Given the description of an element on the screen output the (x, y) to click on. 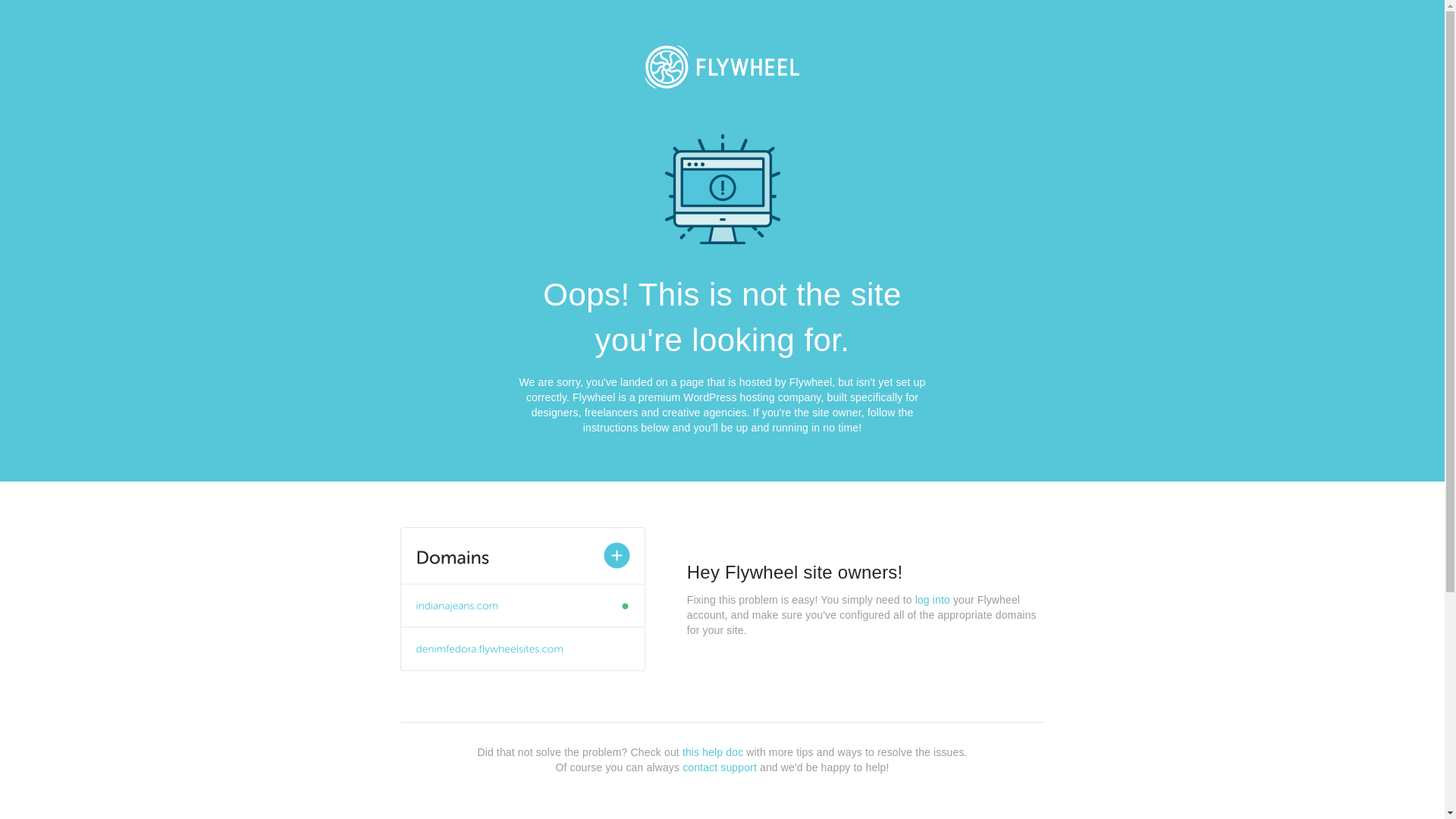
log into Element type: text (932, 599)
this help doc Element type: text (712, 752)
contact support Element type: text (719, 767)
